Given the description of an element on the screen output the (x, y) to click on. 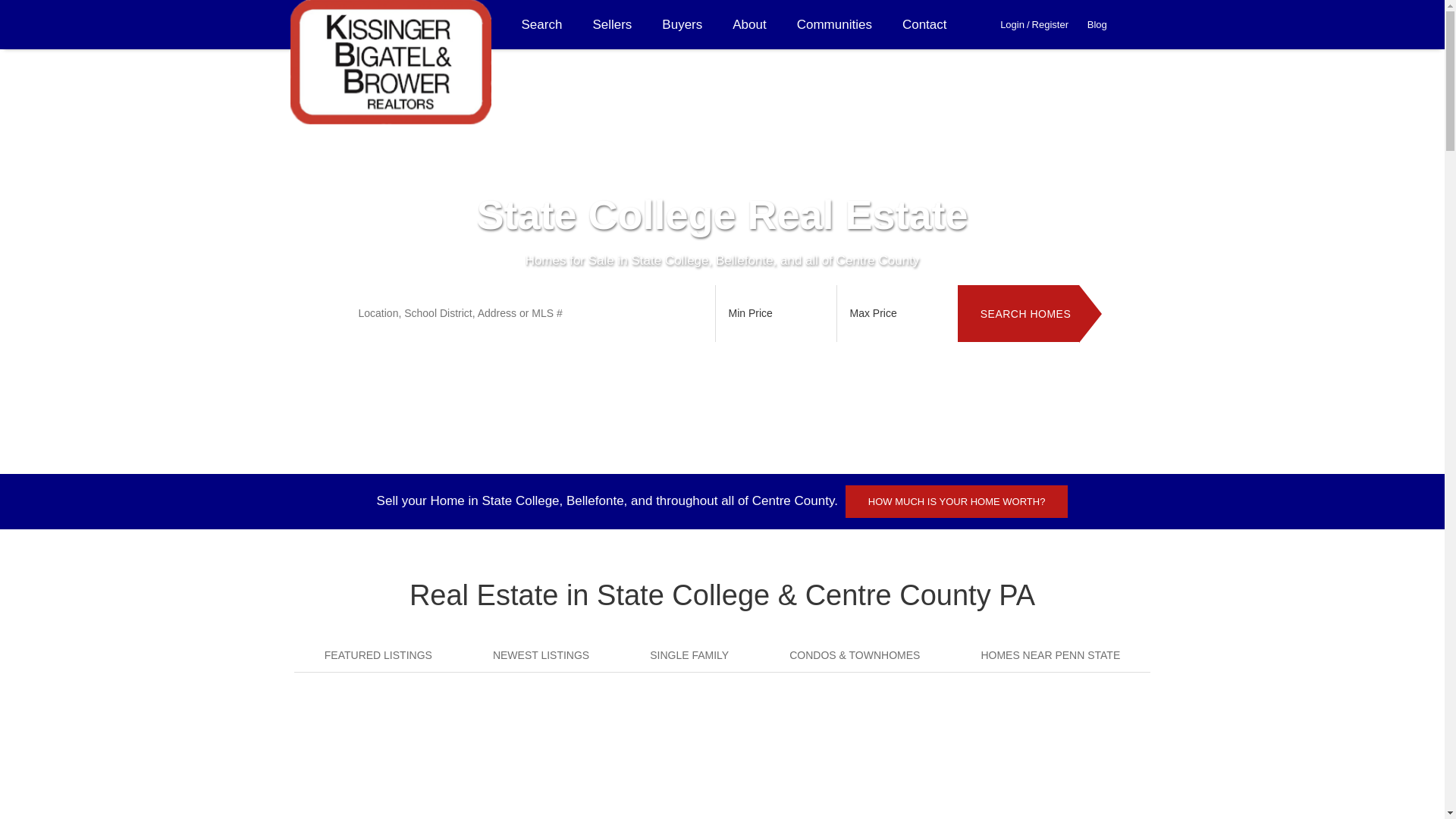
Select Language Element type: hover (1140, 24)
Blog Element type: text (1097, 24)
About Element type: text (749, 24)
Enter Location, School District, Address or MLS # Element type: hover (528, 313)
SEARCH HOMES Element type: text (1017, 313)
Sellers Element type: text (611, 24)
HOW MUCH IS YOUR HOME WORTH? Element type: text (956, 501)
Register Element type: text (1050, 24)
Contact Element type: text (924, 24)
Buyers Element type: text (681, 24)
Login/ Element type: text (1015, 24)
Search Element type: text (541, 24)
Communities Element type: text (834, 24)
